Given the description of an element on the screen output the (x, y) to click on. 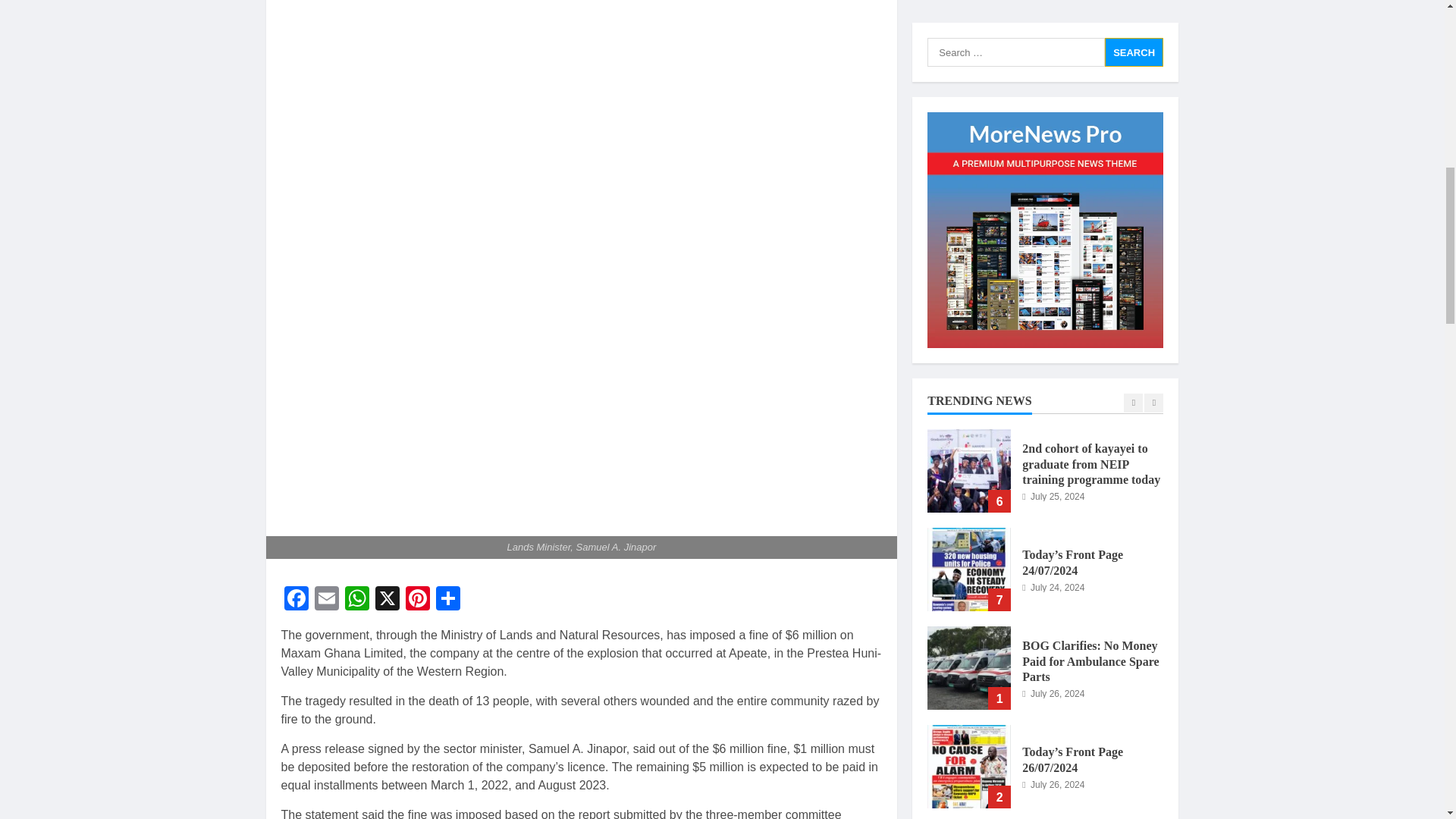
X (386, 600)
Email (325, 600)
Pinterest (416, 600)
WhatsApp (355, 600)
Facebook (296, 600)
